Given the description of an element on the screen output the (x, y) to click on. 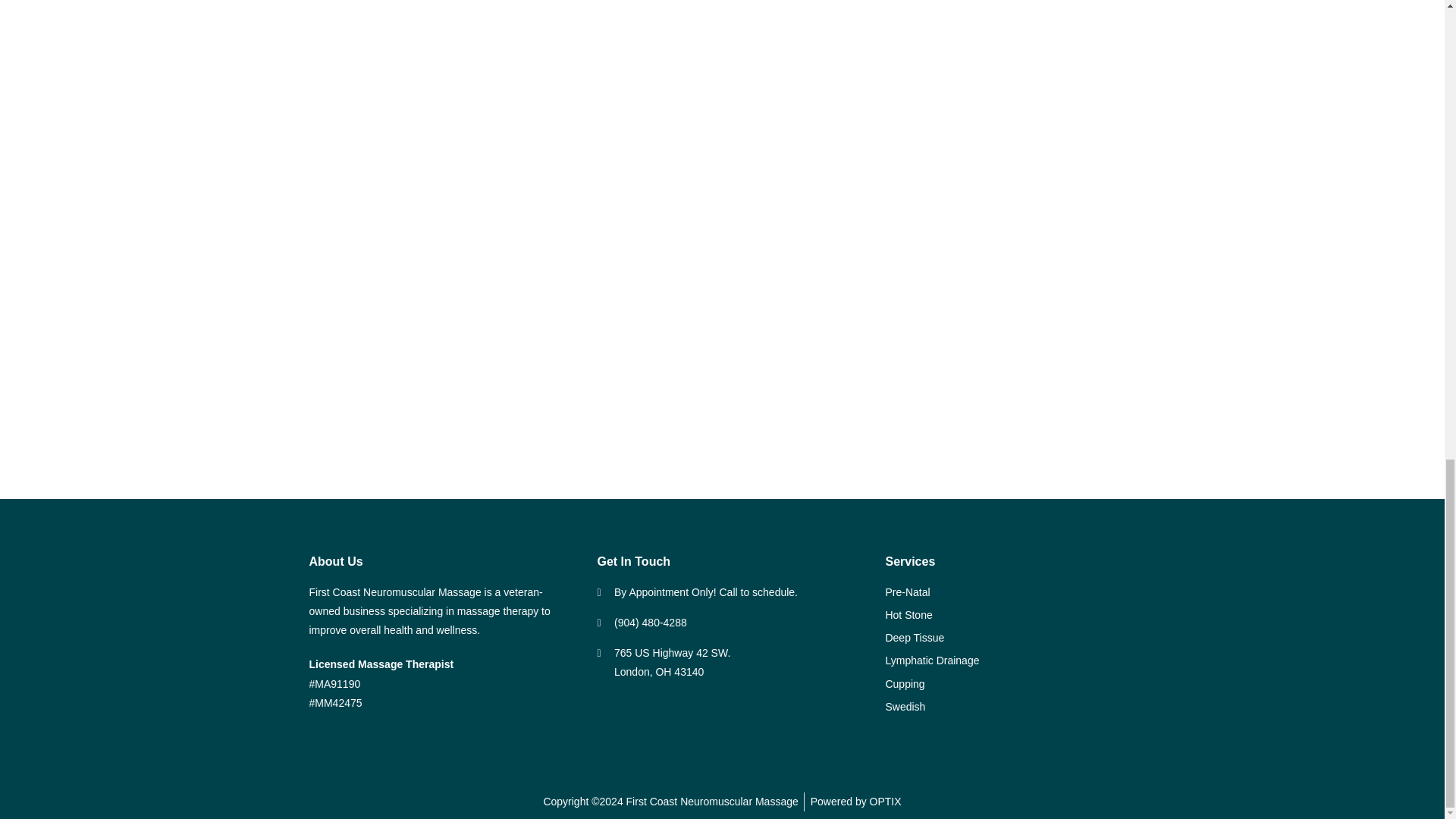
Deep Tissue (1010, 637)
Powered by OPTIX (855, 801)
Hot Stone (1010, 615)
Pre-Natal (1010, 592)
Swedish (1010, 706)
Lymphatic Drainage (1010, 660)
Cupping (1010, 683)
